Given the description of an element on the screen output the (x, y) to click on. 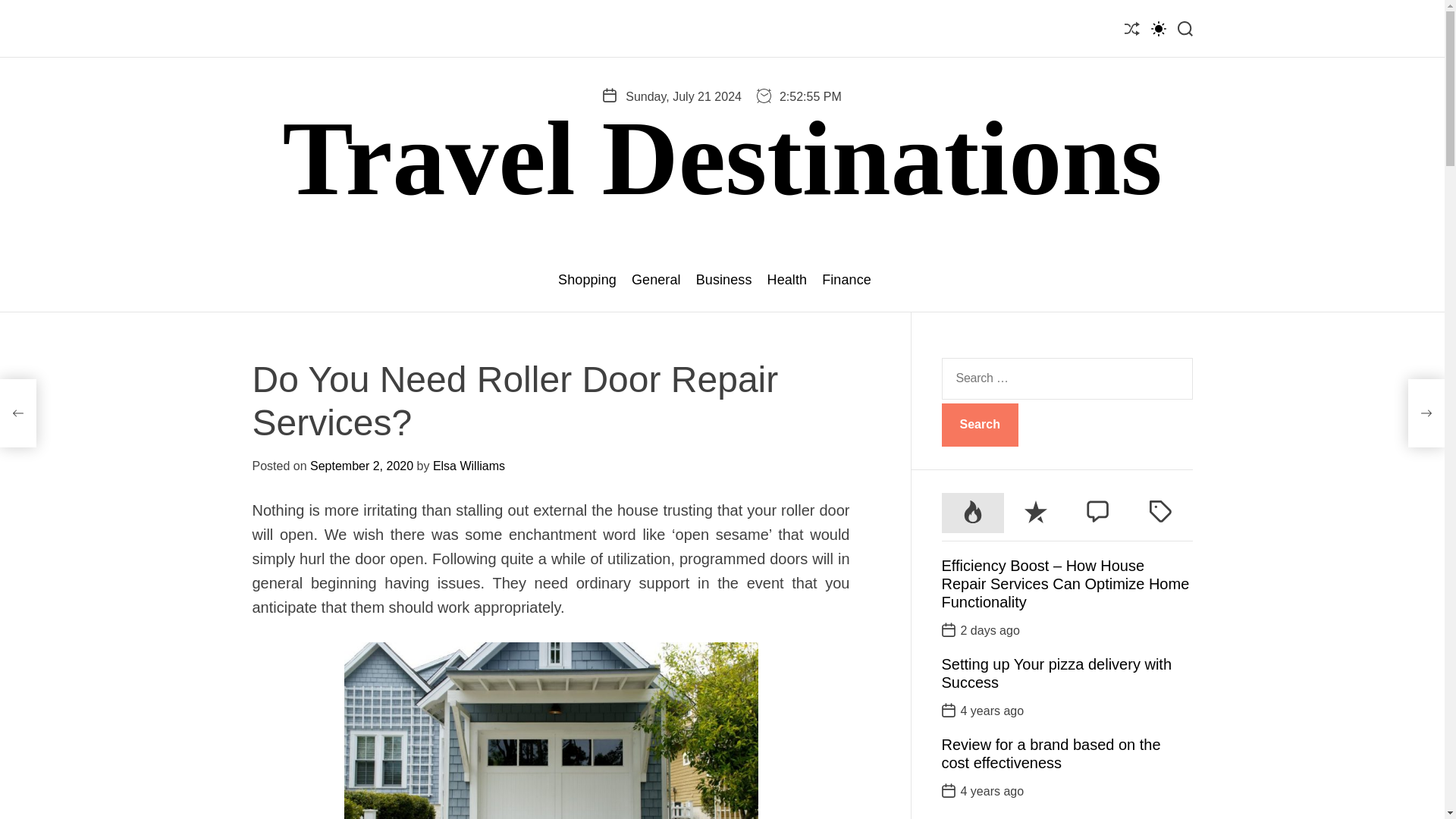
Popular (973, 513)
Business (723, 280)
September 2, 2020 (361, 465)
Tagged (1160, 513)
Recent (1035, 513)
General (656, 280)
Review for a brand based on the cost effectiveness (1051, 753)
Search (979, 424)
Elsa Williams (468, 465)
Comment (1098, 513)
Health (787, 280)
Search (979, 424)
Travel Destinations (721, 158)
Shopping (586, 280)
Search (979, 424)
